Given the description of an element on the screen output the (x, y) to click on. 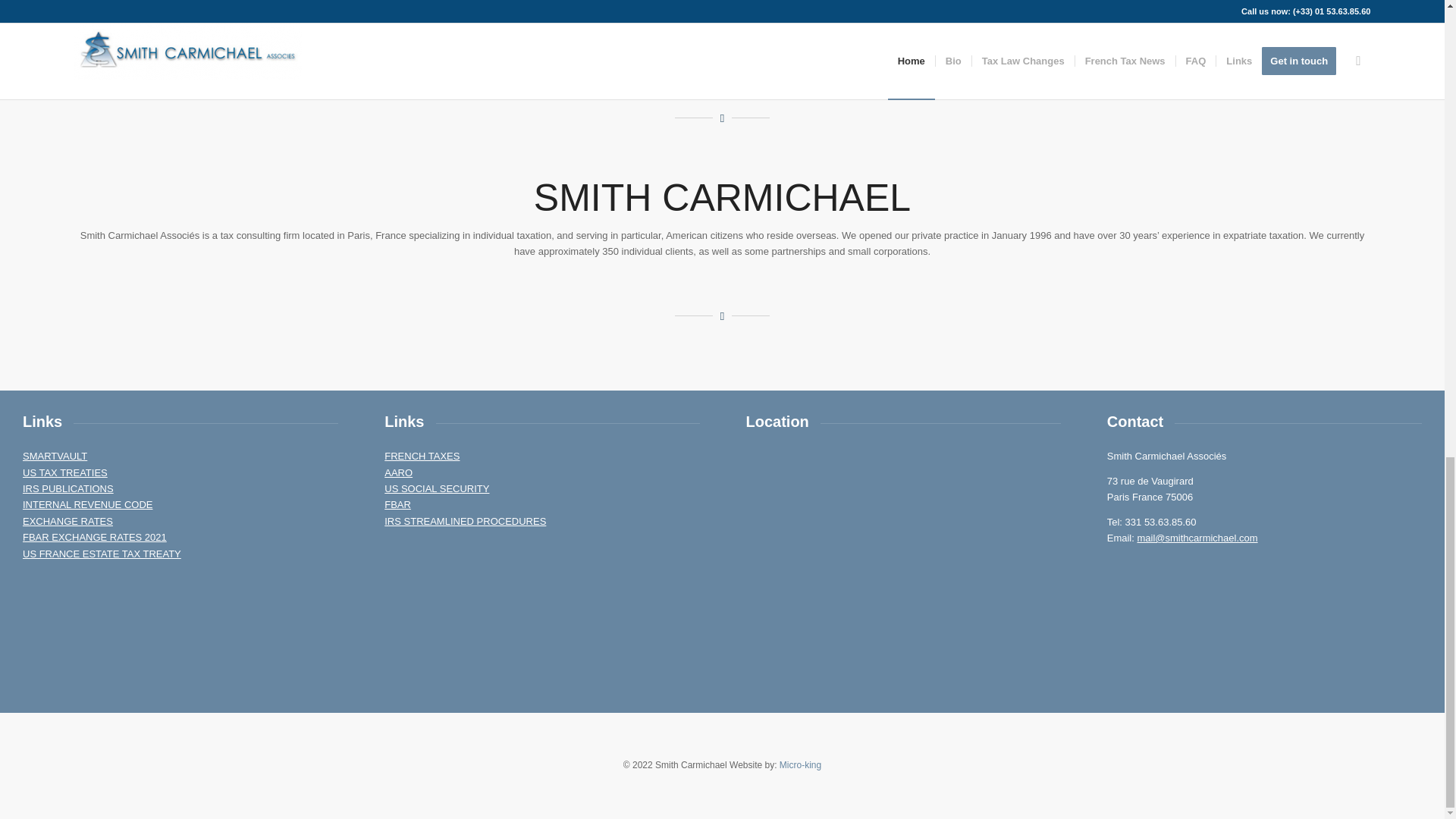
FBAR EXCHANGE RATES 2021 (95, 536)
INTERNAL REVENUE CODE (87, 504)
US TAX TREATIES (65, 472)
SMARTVAULT (55, 455)
EXCHANGE RATES (68, 521)
IRS PUBLICATIONS (68, 488)
